Given the description of an element on the screen output the (x, y) to click on. 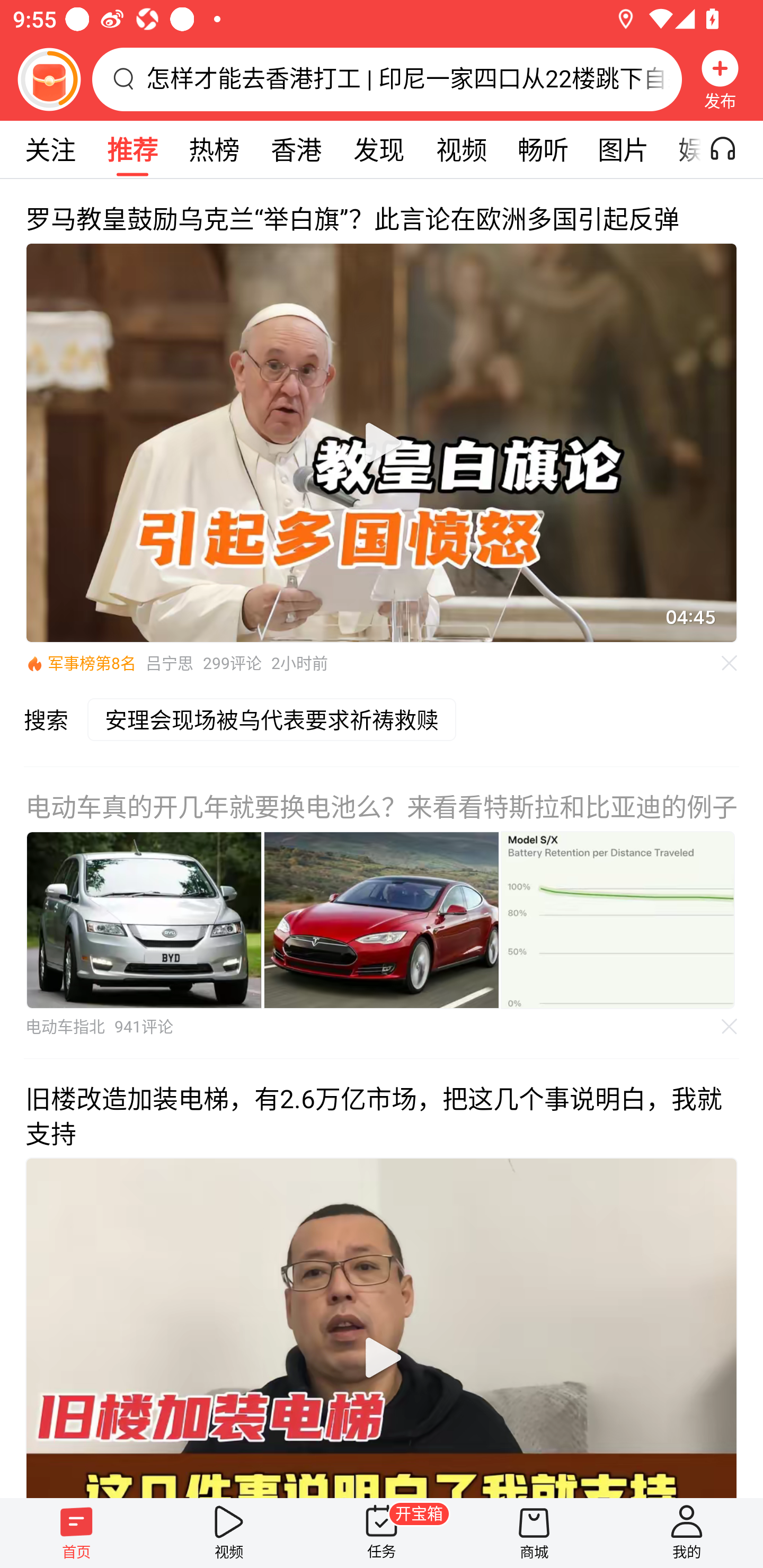
阅读赚金币 (48, 79)
发布 发布，按钮 (720, 78)
关注 (50, 149)
推荐 (132, 149)
热榜 (213, 149)
香港 (295, 149)
发现 (378, 149)
视频 (461, 149)
畅听 (542, 149)
图片 (623, 149)
听一听开关 (732, 149)
播放视频 视频播放器，双击屏幕打开播放控制 (381, 442)
播放视频 (381, 442)
不感兴趣 (729, 663)
安理会现场被乌代表要求祈祷救赎 (278, 731)
内容图片 (143, 920)
内容图片 (381, 920)
内容图片 (617, 920)
不感兴趣 (729, 1026)
播放视频 视频播放器，双击屏幕打开播放控制 (381, 1327)
播放视频 (381, 1357)
首页 (76, 1532)
视频 (228, 1532)
任务 开宝箱 (381, 1532)
商城 (533, 1532)
我的 (686, 1532)
